Given the description of an element on the screen output the (x, y) to click on. 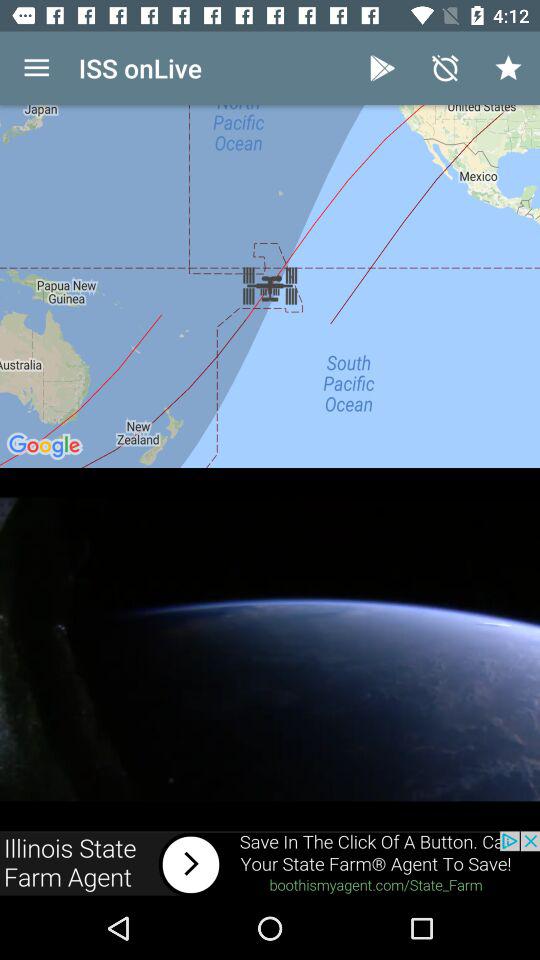
connect to link (270, 864)
